Given the description of an element on the screen output the (x, y) to click on. 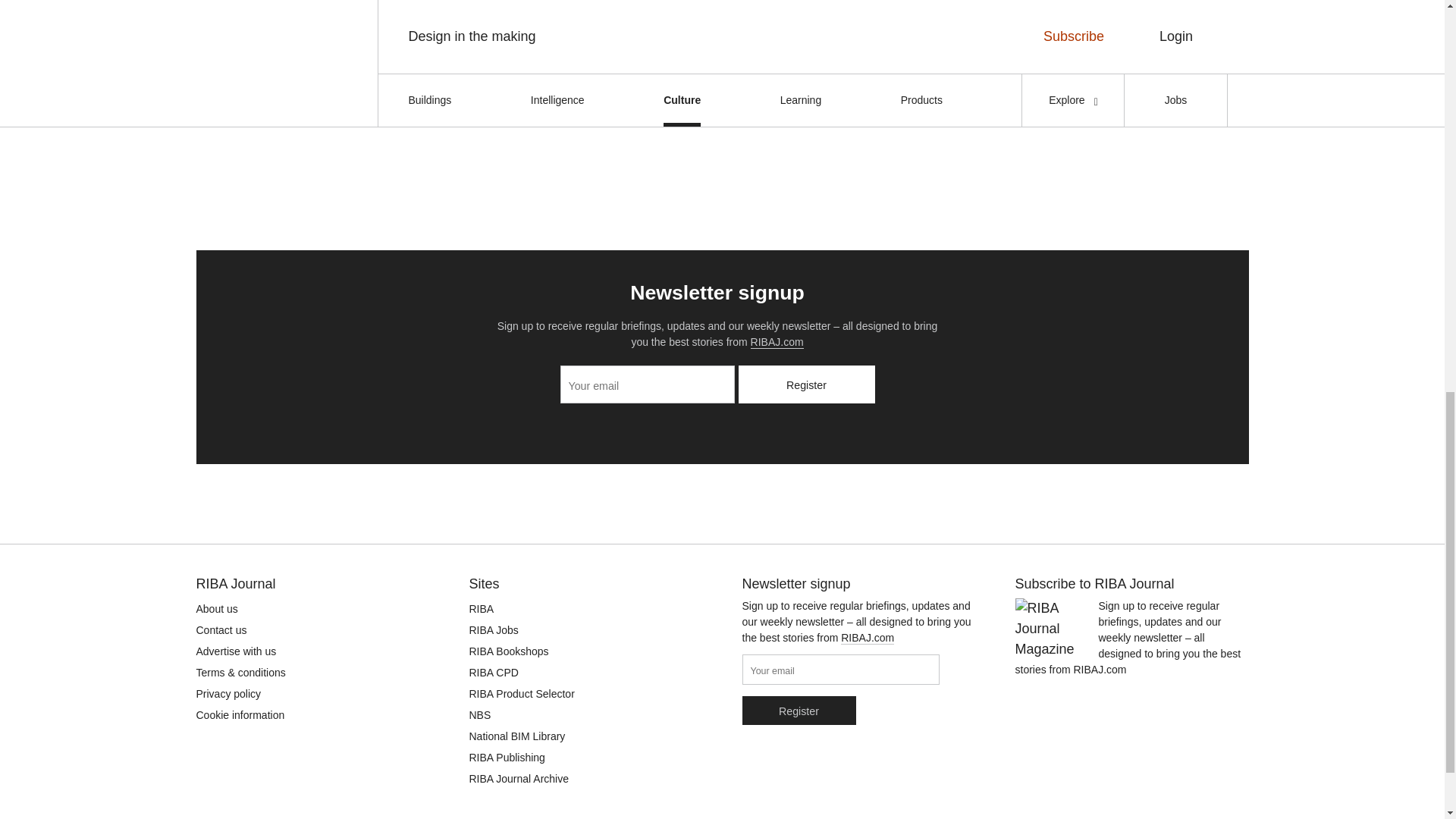
Register (798, 710)
Register (806, 384)
